Given the description of an element on the screen output the (x, y) to click on. 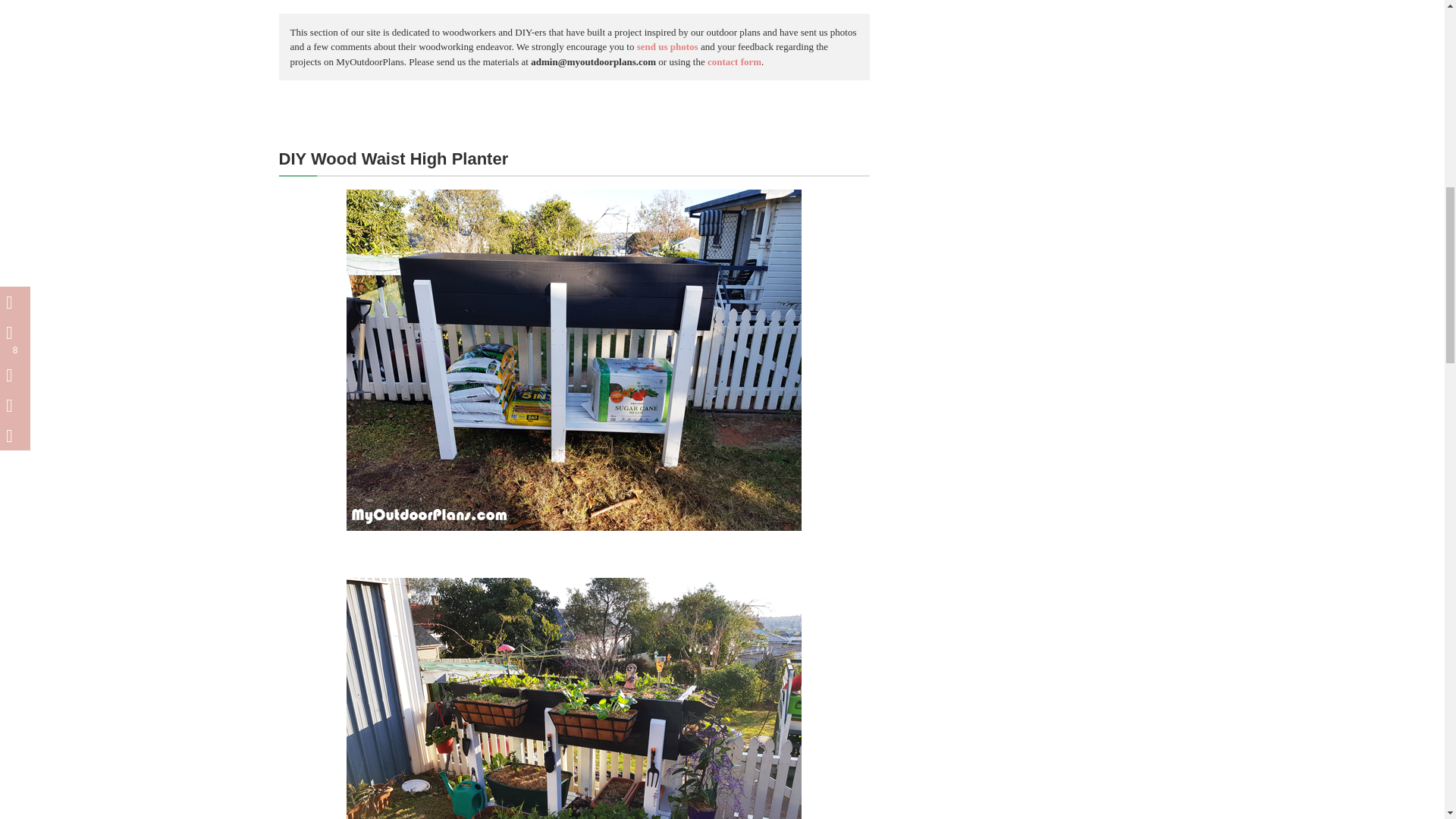
contact form (734, 61)
send us photos (667, 46)
